Given the description of an element on the screen output the (x, y) to click on. 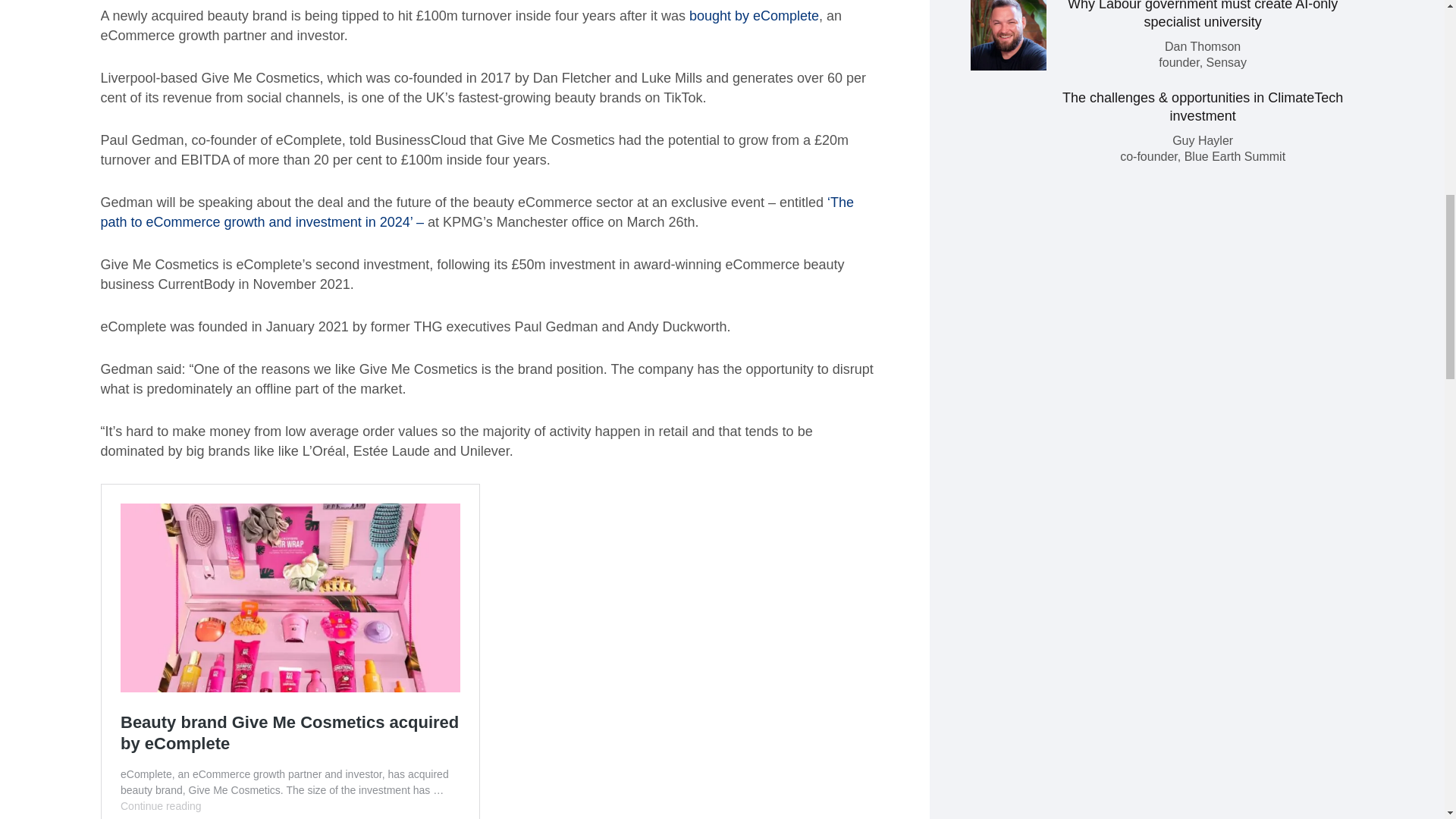
bought by eComplete (753, 15)
